Given the description of an element on the screen output the (x, y) to click on. 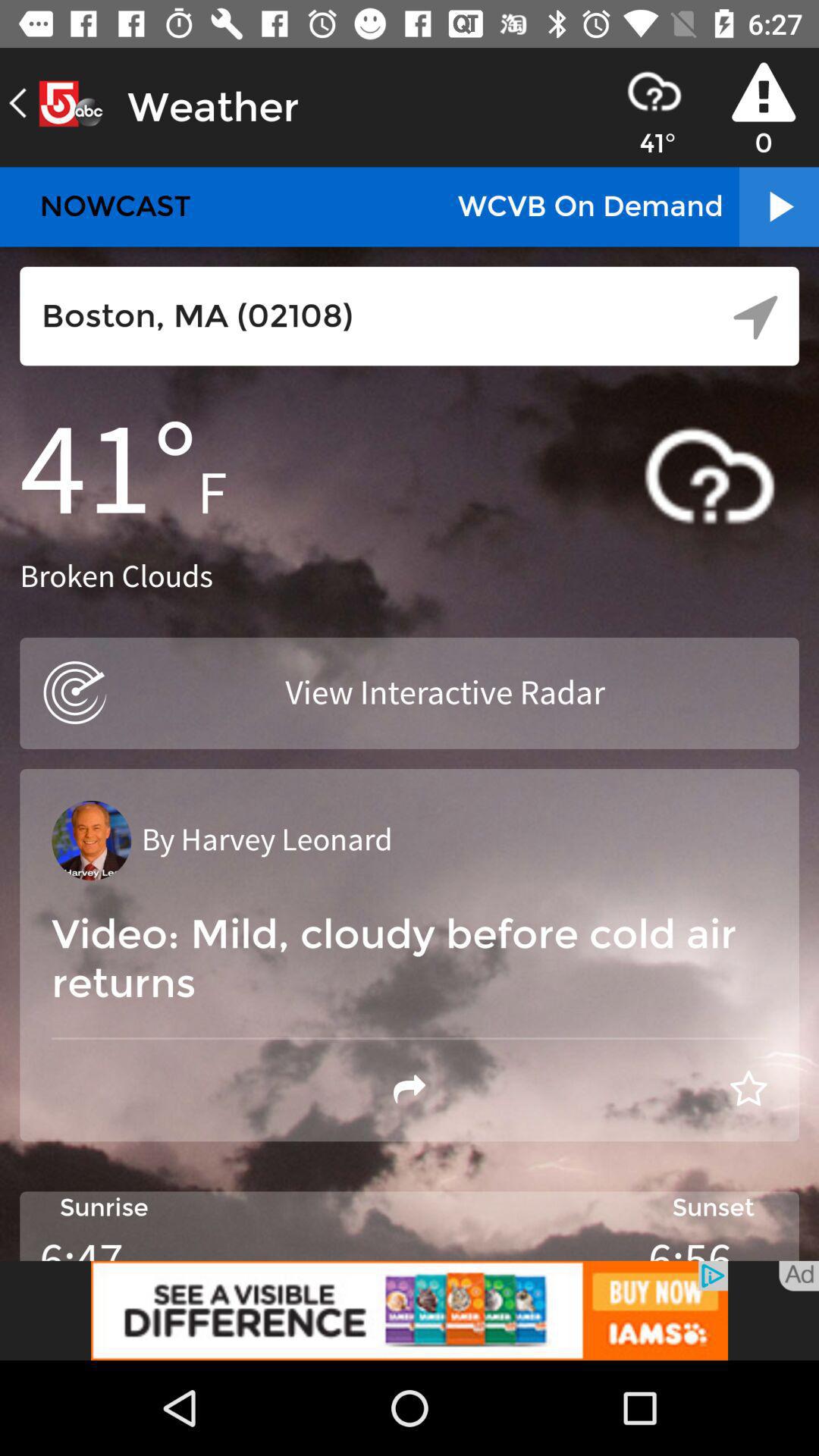
select advertisement (409, 1310)
